Given the description of an element on the screen output the (x, y) to click on. 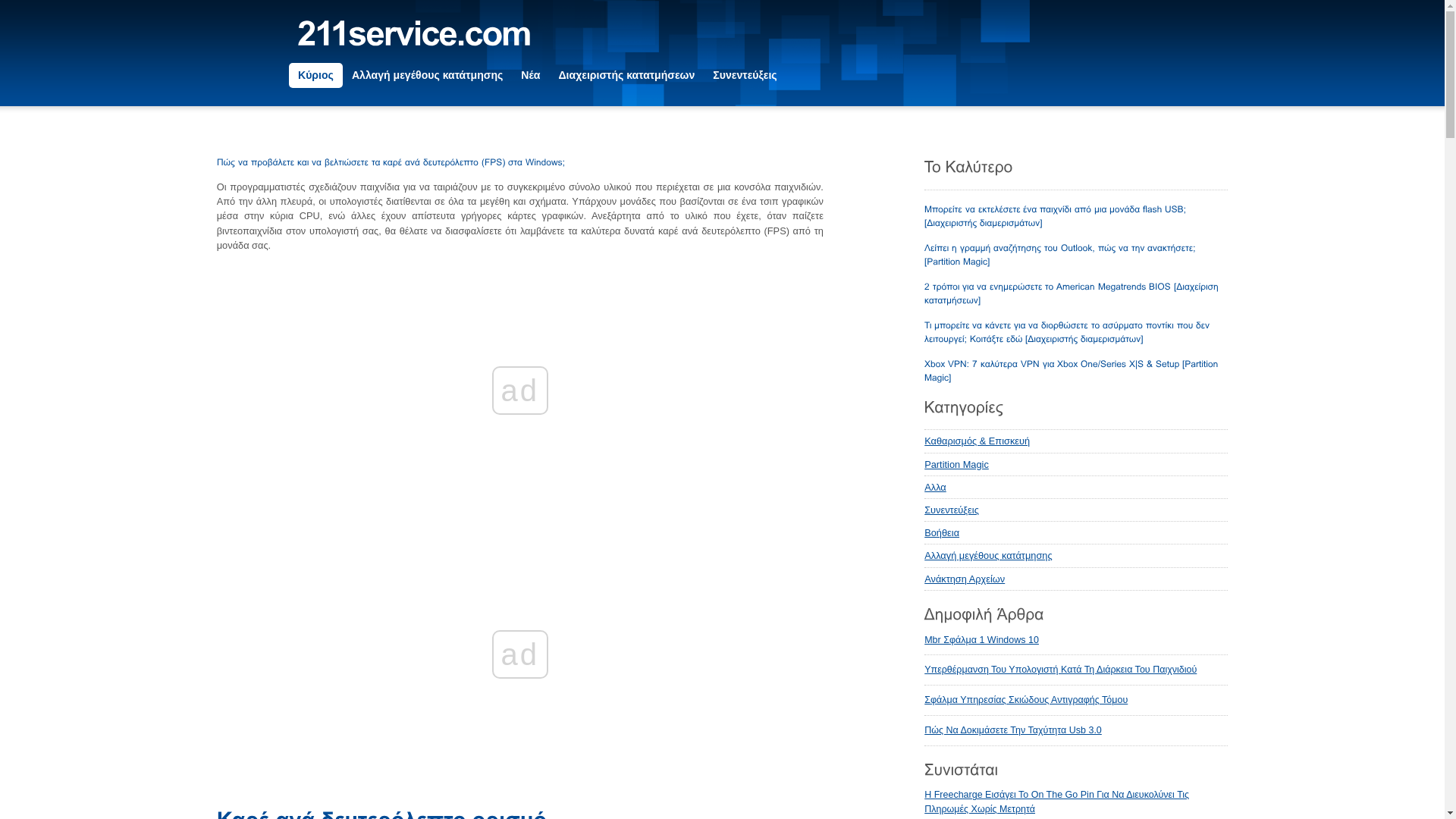
Partition Magic Element type: text (1075, 464)
